Given the description of an element on the screen output the (x, y) to click on. 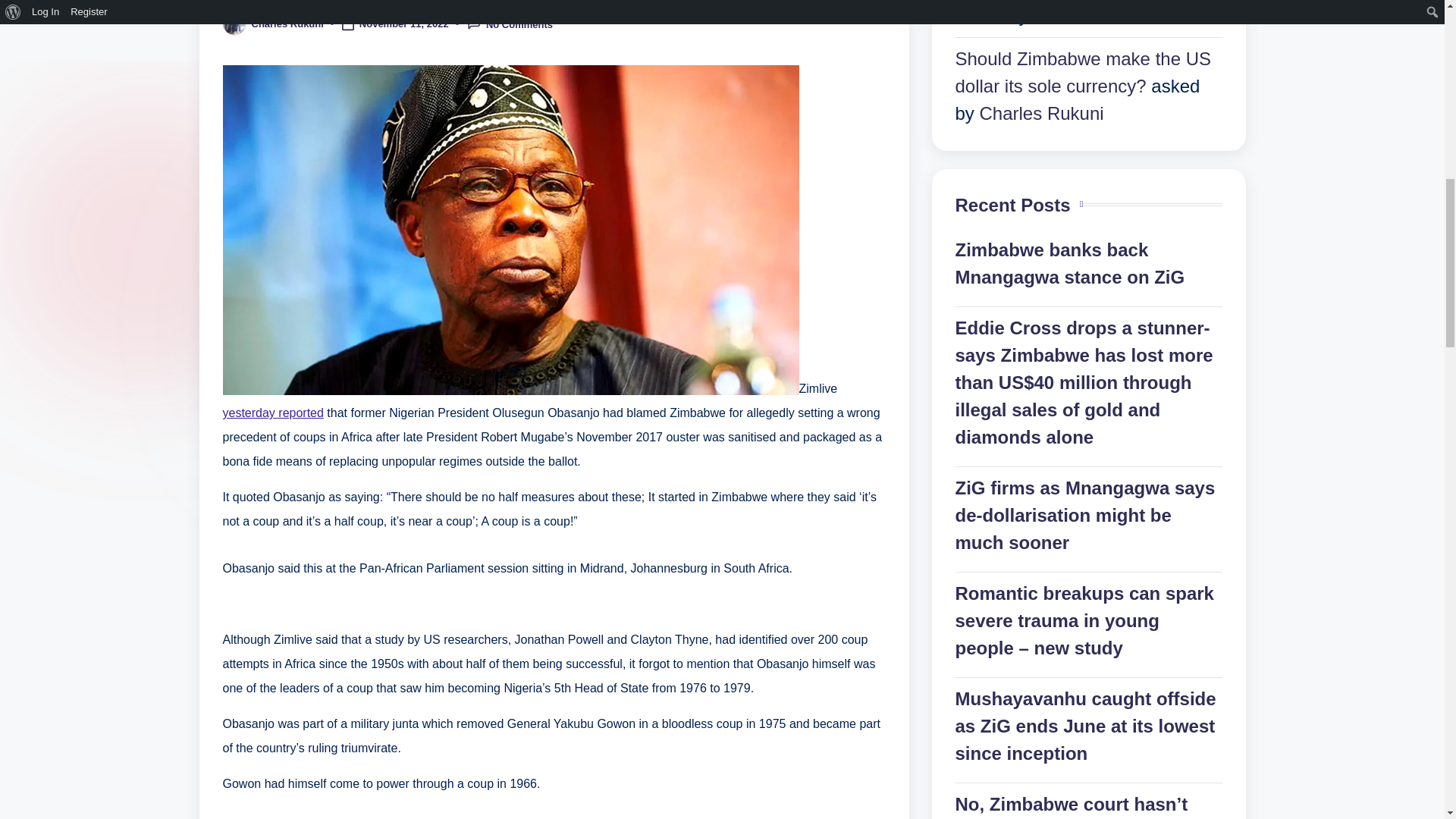
Charles Rukuni (287, 23)
yesterday reported (272, 412)
No Comments (510, 23)
View all posts by Charles Rukuni (287, 23)
